Given the description of an element on the screen output the (x, y) to click on. 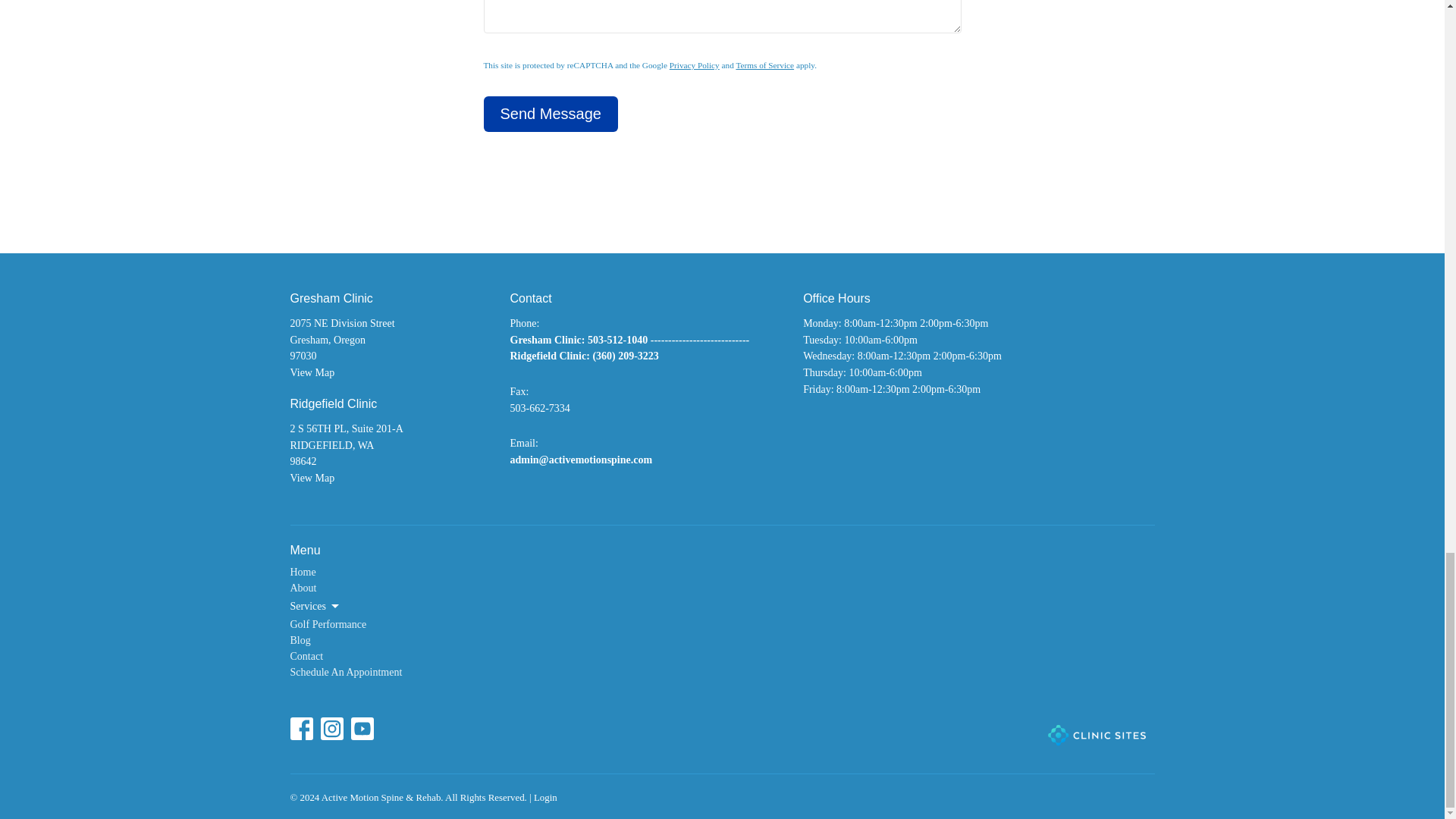
Send Message (550, 113)
Privacy Policy (694, 64)
About (302, 587)
Send Message (550, 113)
Services (314, 606)
View Map (311, 478)
Blog (299, 640)
Contact (306, 655)
Terms of Service (764, 64)
Golf Performance (327, 624)
Home (302, 572)
Schedule An Appointment (345, 672)
translation missing: en.ui.fax (517, 391)
Login (545, 797)
View Map (311, 372)
